Given the description of an element on the screen output the (x, y) to click on. 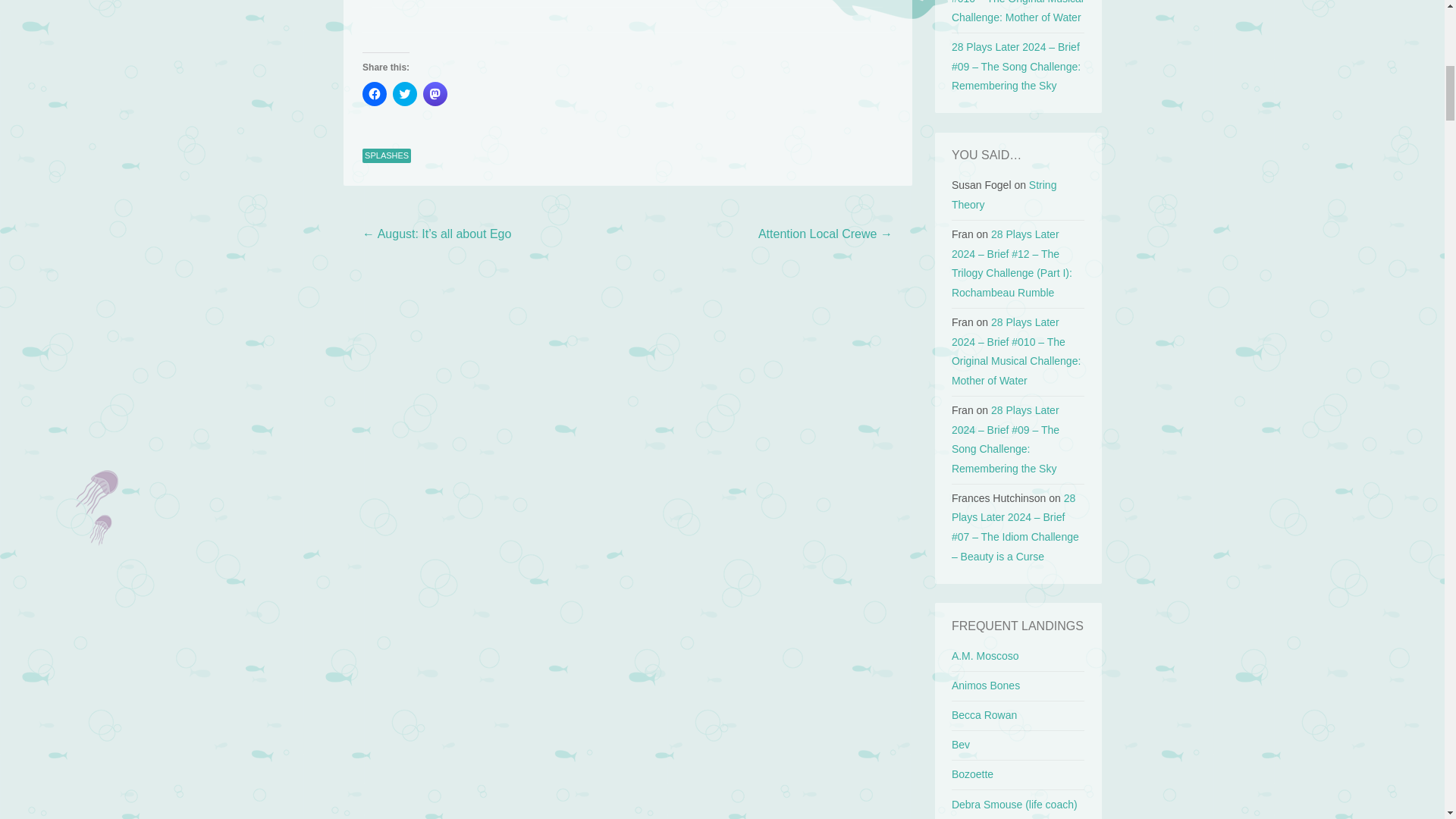
SPLASHES (386, 155)
A.M. Moscoso (985, 655)
Animos Bones (986, 685)
Click to share on Mastodon (434, 93)
Click to share on Facebook (374, 93)
Bev (960, 744)
Becca Rowan (984, 715)
Bozoette (972, 774)
Click to share on Twitter (404, 93)
String Theory (1004, 194)
